Given the description of an element on the screen output the (x, y) to click on. 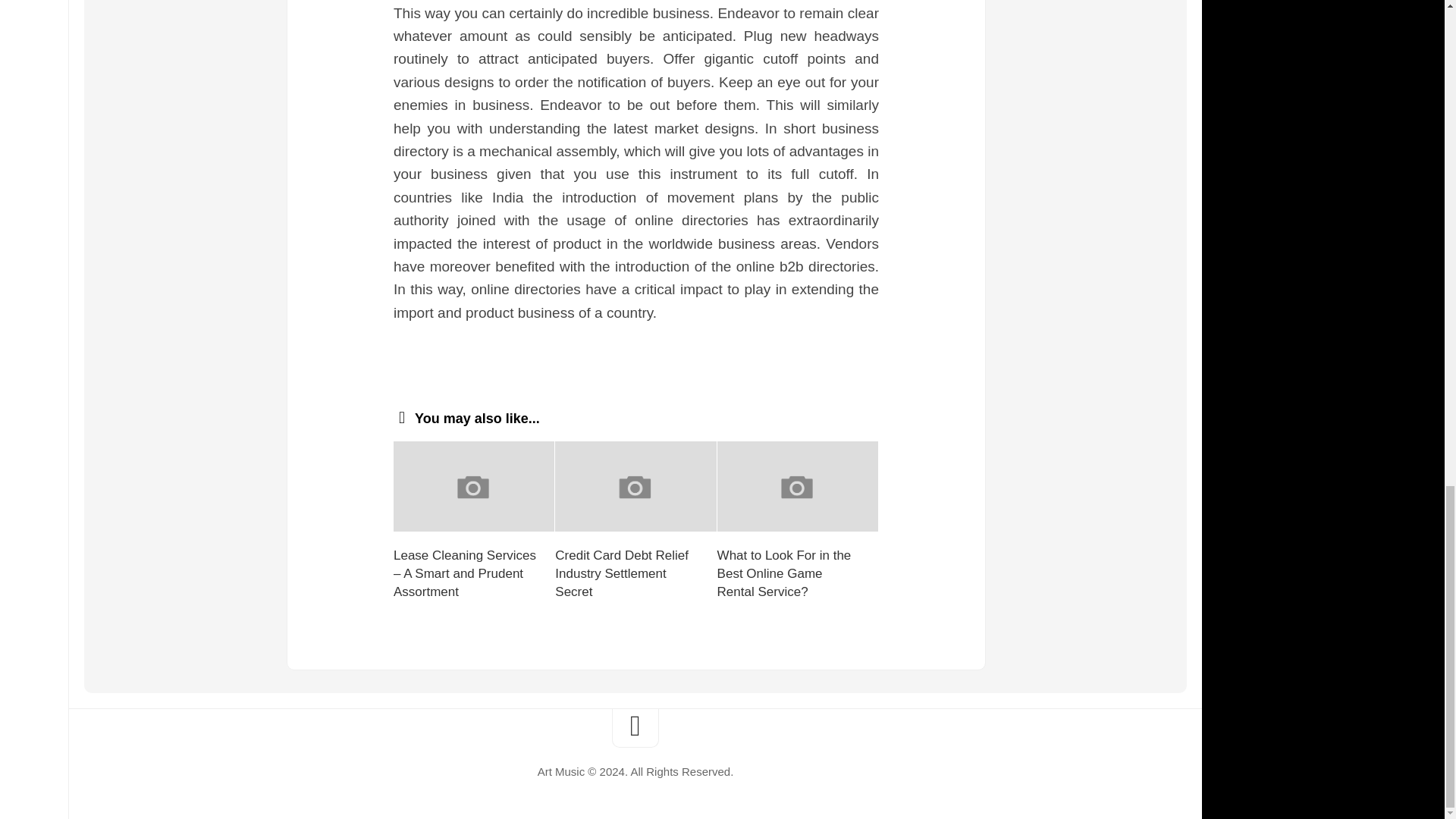
What to Look For in the Best Online Game Rental Service? (784, 572)
Credit Card Debt Relief Industry Settlement Secret (621, 572)
